Given the description of an element on the screen output the (x, y) to click on. 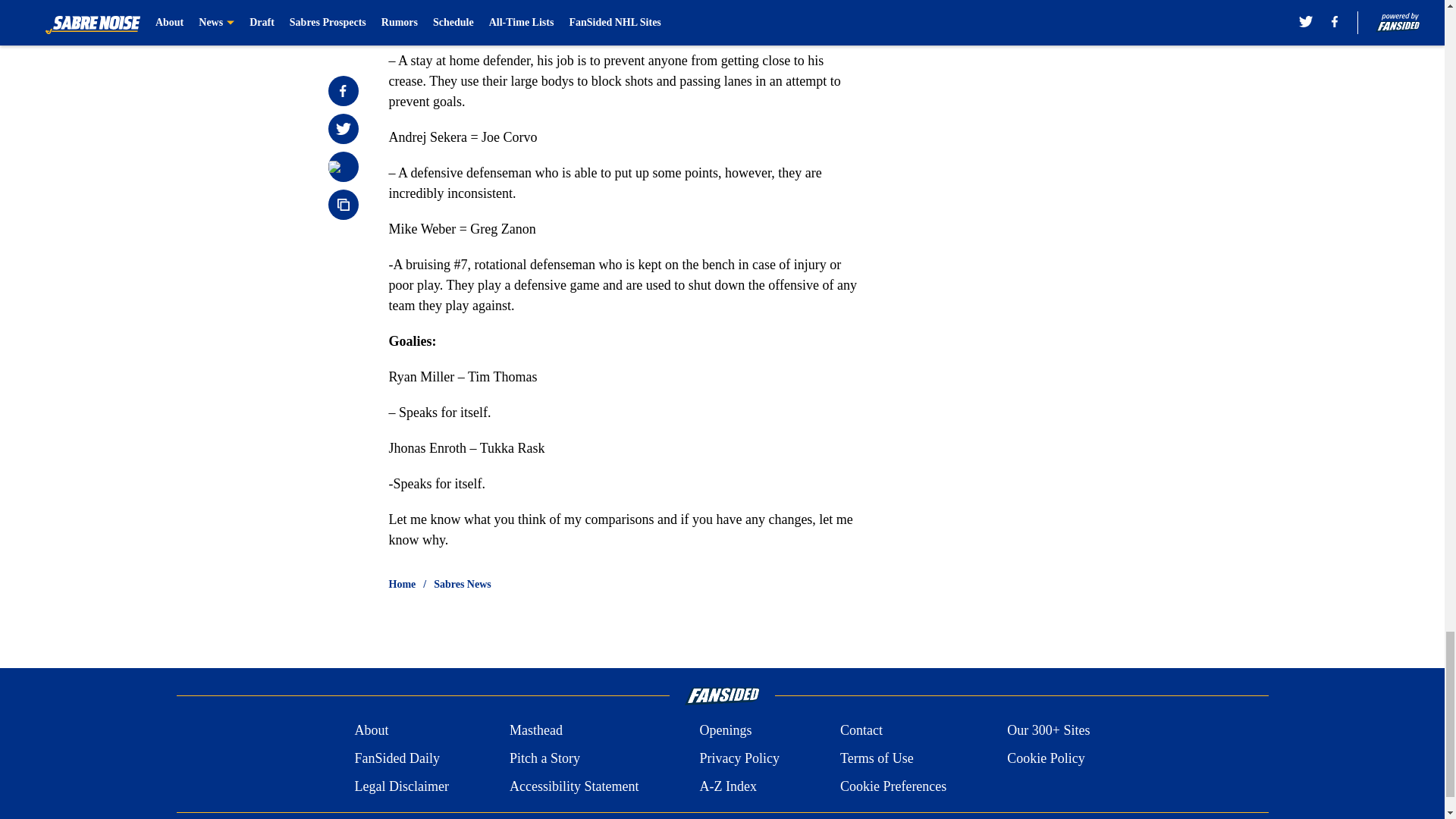
About (370, 730)
FanSided Daily (396, 758)
Cookie Policy (1045, 758)
Contact (861, 730)
Cookie Preferences (893, 786)
Sabres News (462, 584)
Legal Disclaimer (400, 786)
Openings (724, 730)
A-Z Index (726, 786)
Pitch a Story (544, 758)
Accessibility Statement (574, 786)
Masthead (535, 730)
Privacy Policy (738, 758)
Terms of Use (877, 758)
Home (401, 584)
